Given the description of an element on the screen output the (x, y) to click on. 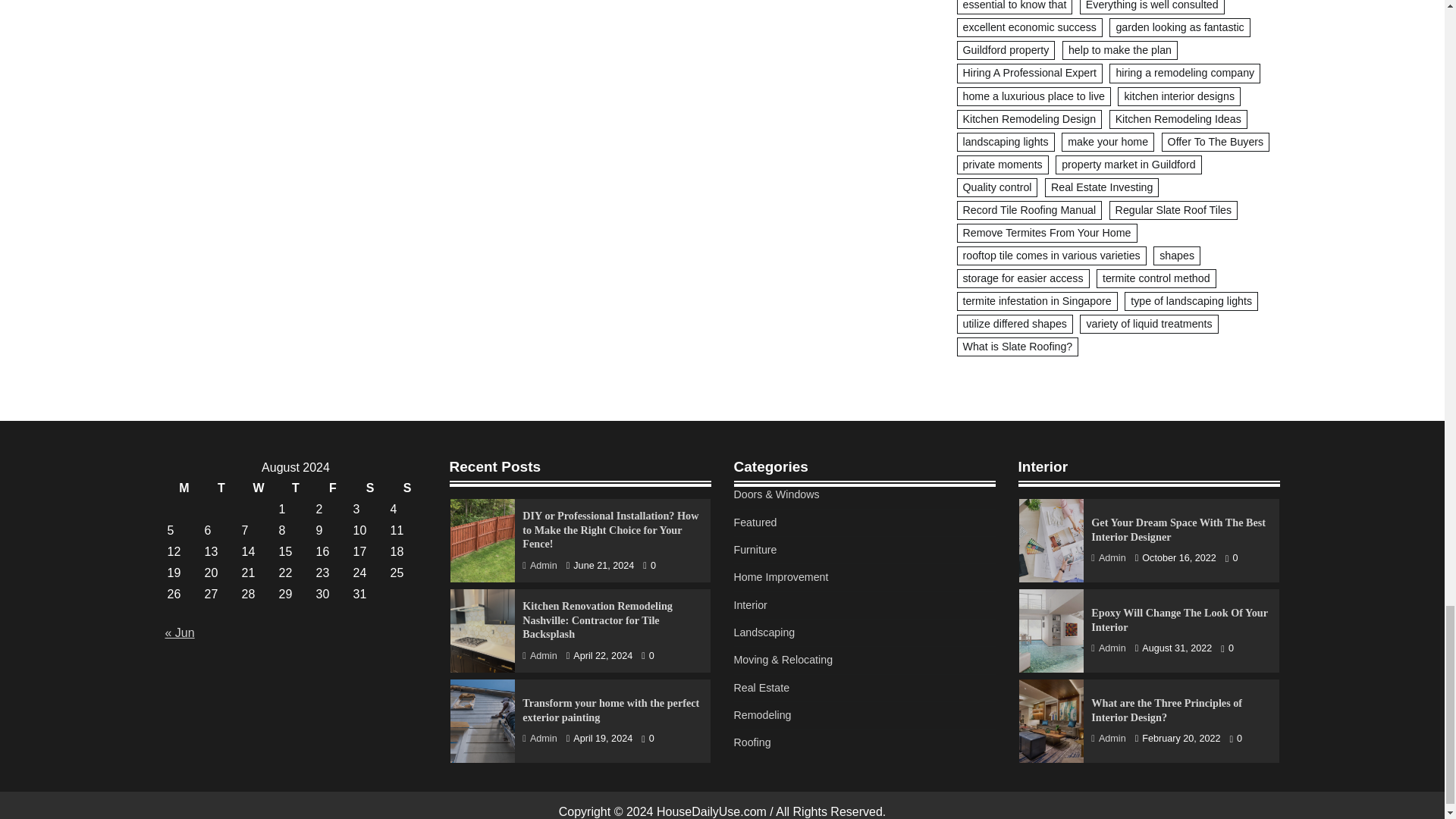
Saturday (369, 487)
Thursday (295, 487)
Monday (184, 487)
Tuesday (220, 487)
Wednesday (258, 487)
Friday (332, 487)
Sunday (407, 487)
